Given the description of an element on the screen output the (x, y) to click on. 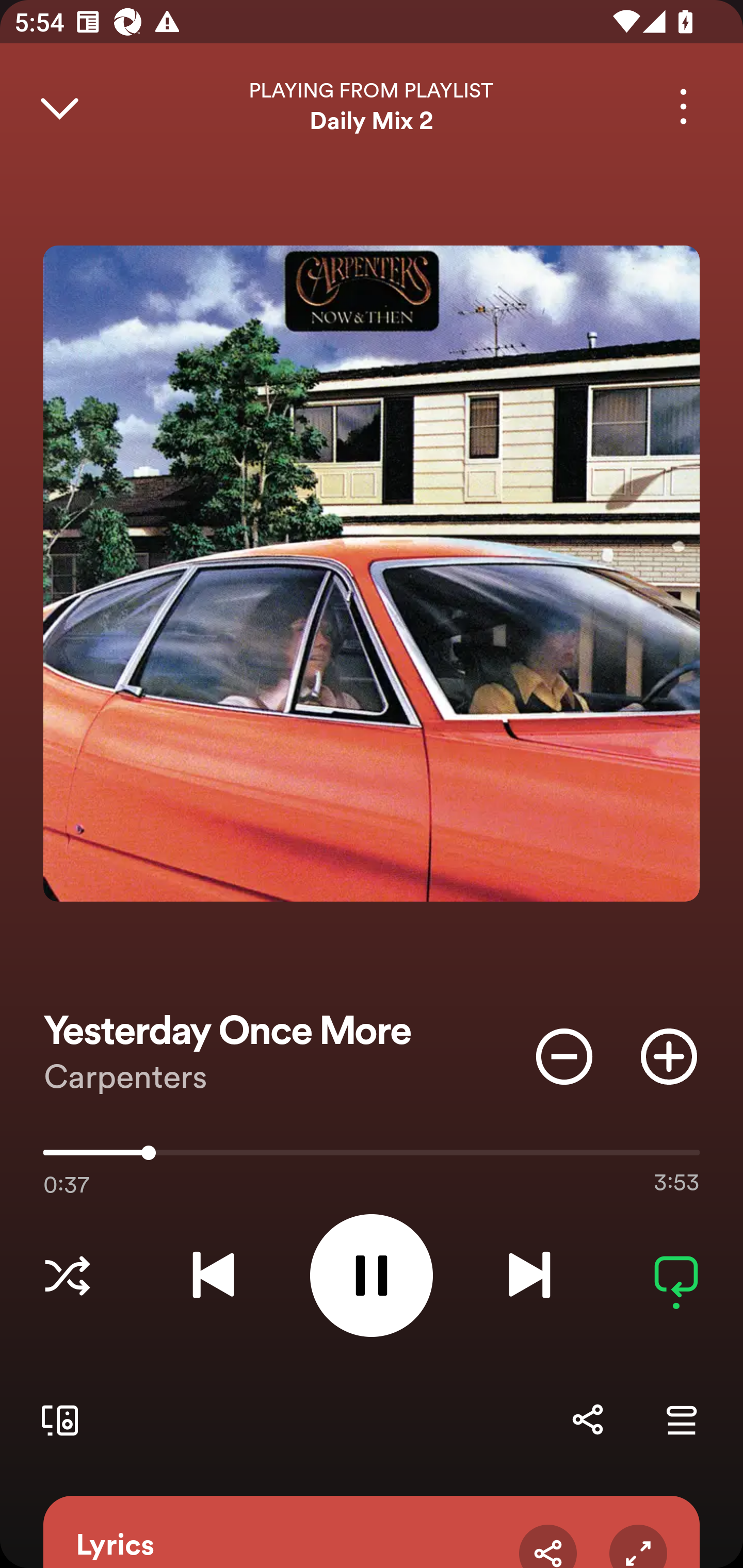
Close (59, 106)
More options for song Yesterday Once More (683, 106)
PLAYING FROM PLAYLIST Daily Mix 2 (371, 106)
Don't play this (564, 1056)
Add item (669, 1056)
0:37 3:53 37278.0 Use volume keys to adjust (371, 1157)
Pause (371, 1275)
Previous (212, 1275)
Next (529, 1275)
Shuffle tracks (66, 1275)
Repeat (676, 1275)
Share (587, 1419)
Go to Queue (681, 1419)
Connect to a device. Opens the devices menu (55, 1419)
Lyrics Share Expand (371, 1531)
Share (547, 1546)
Expand (638, 1546)
